Given the description of an element on the screen output the (x, y) to click on. 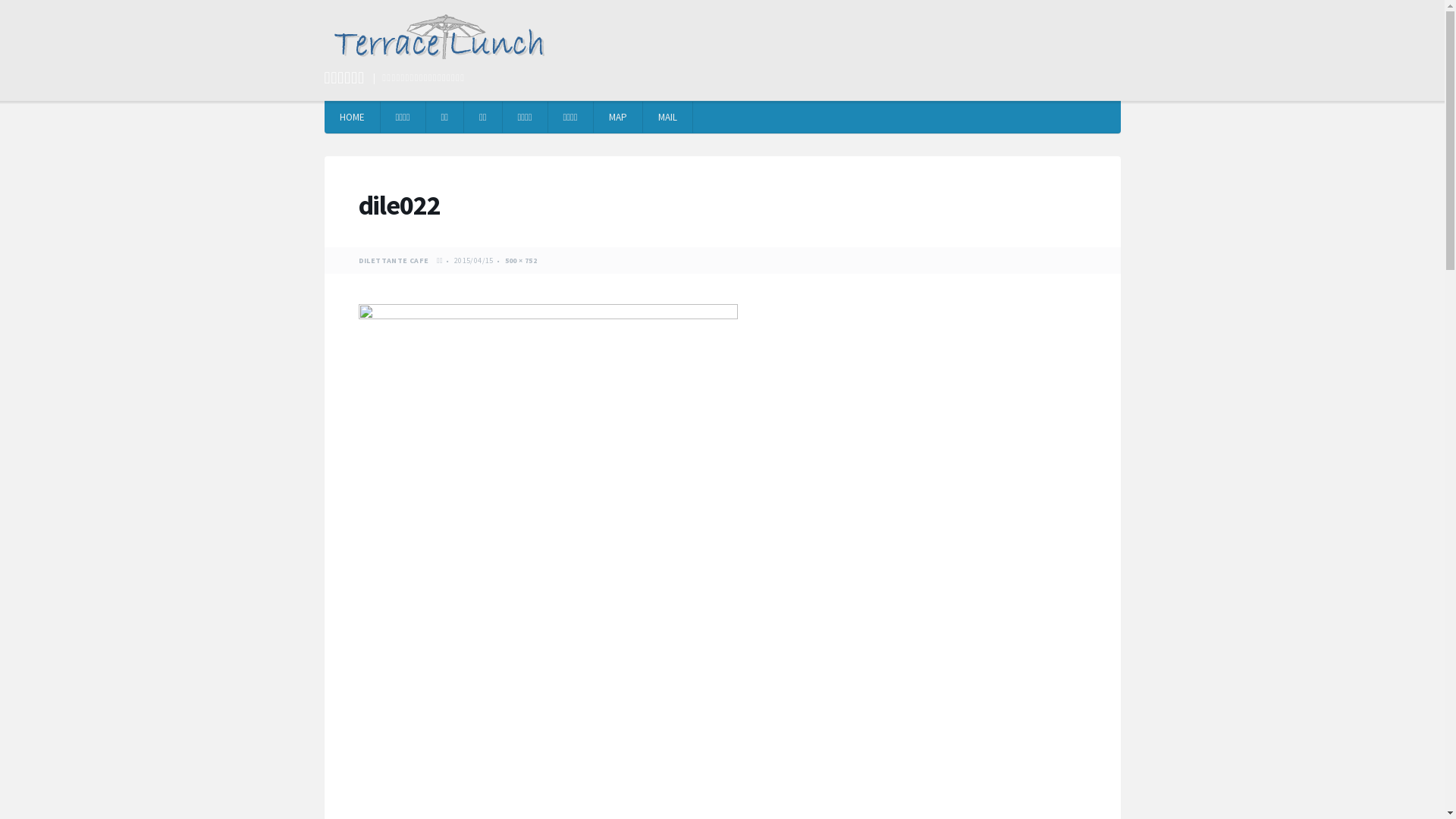
HOME Element type: text (352, 116)
MAP Element type: text (617, 116)
MAIL Element type: text (668, 116)
